Given the description of an element on the screen output the (x, y) to click on. 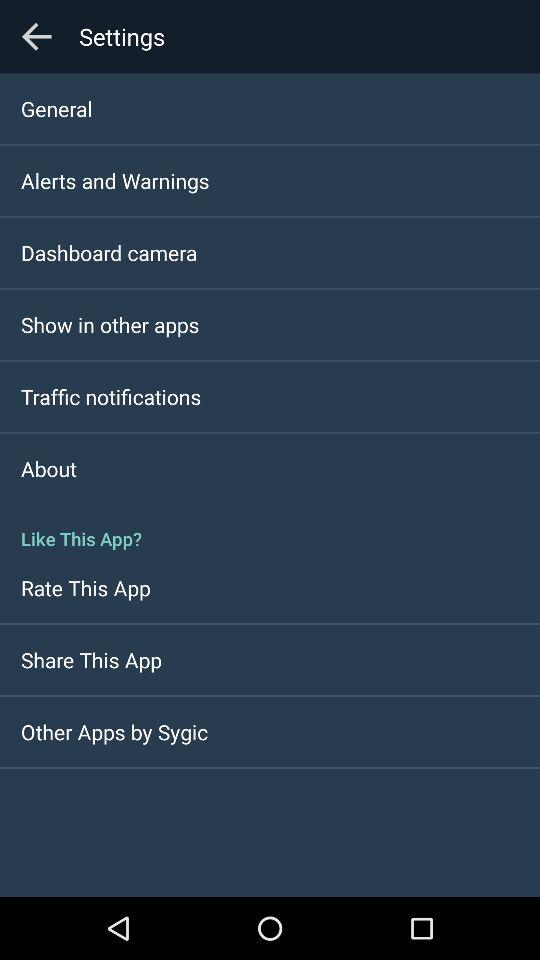
select app below traffic notifications app (48, 468)
